Given the description of an element on the screen output the (x, y) to click on. 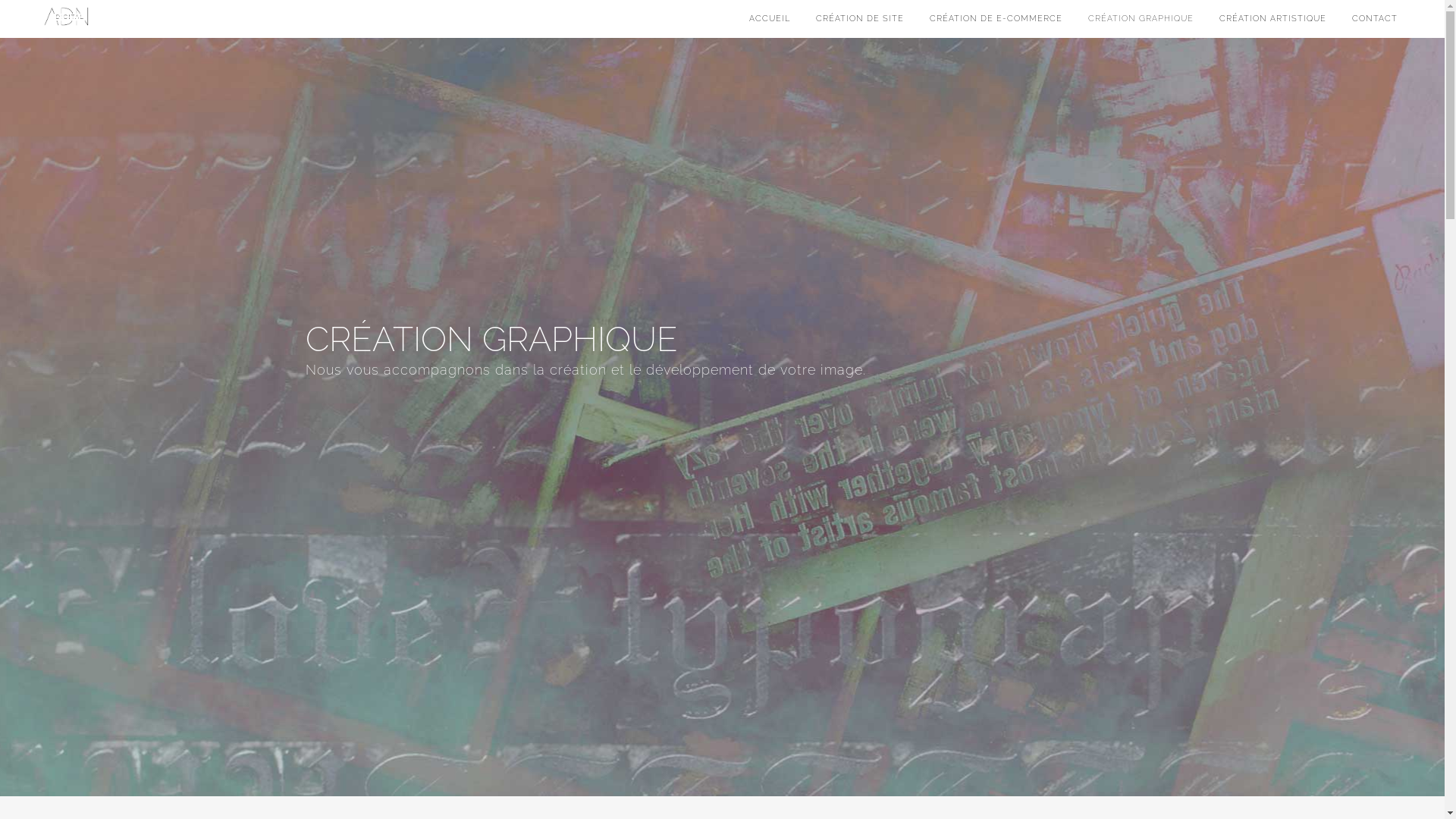
ACCUEIL Element type: text (769, 18)
CONTACT Element type: text (1374, 18)
